Given the description of an element on the screen output the (x, y) to click on. 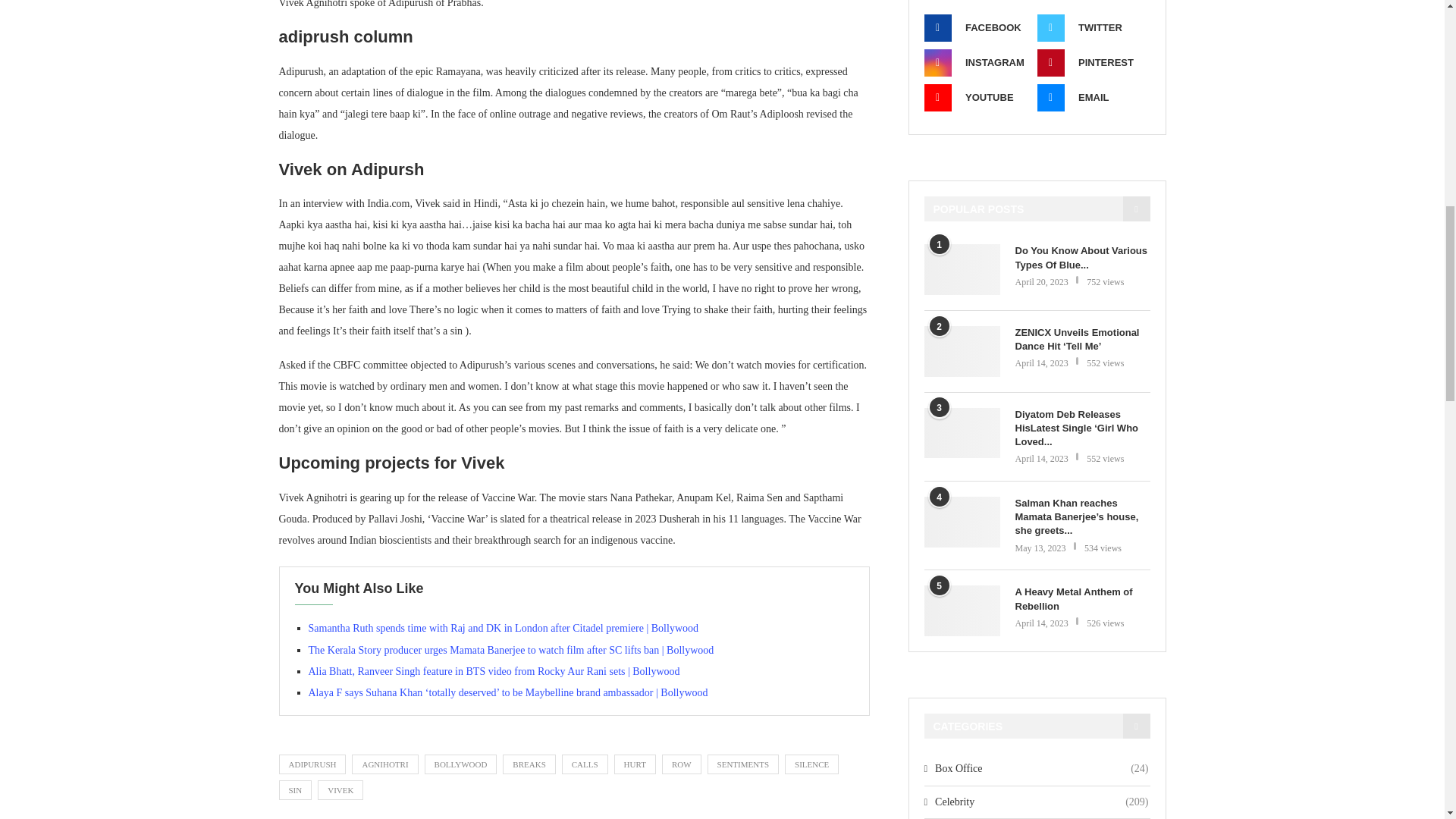
BREAKS (528, 763)
ADIPURUSH (312, 763)
BOLLYWOOD (461, 763)
AGNIHOTRI (384, 763)
